Given the description of an element on the screen output the (x, y) to click on. 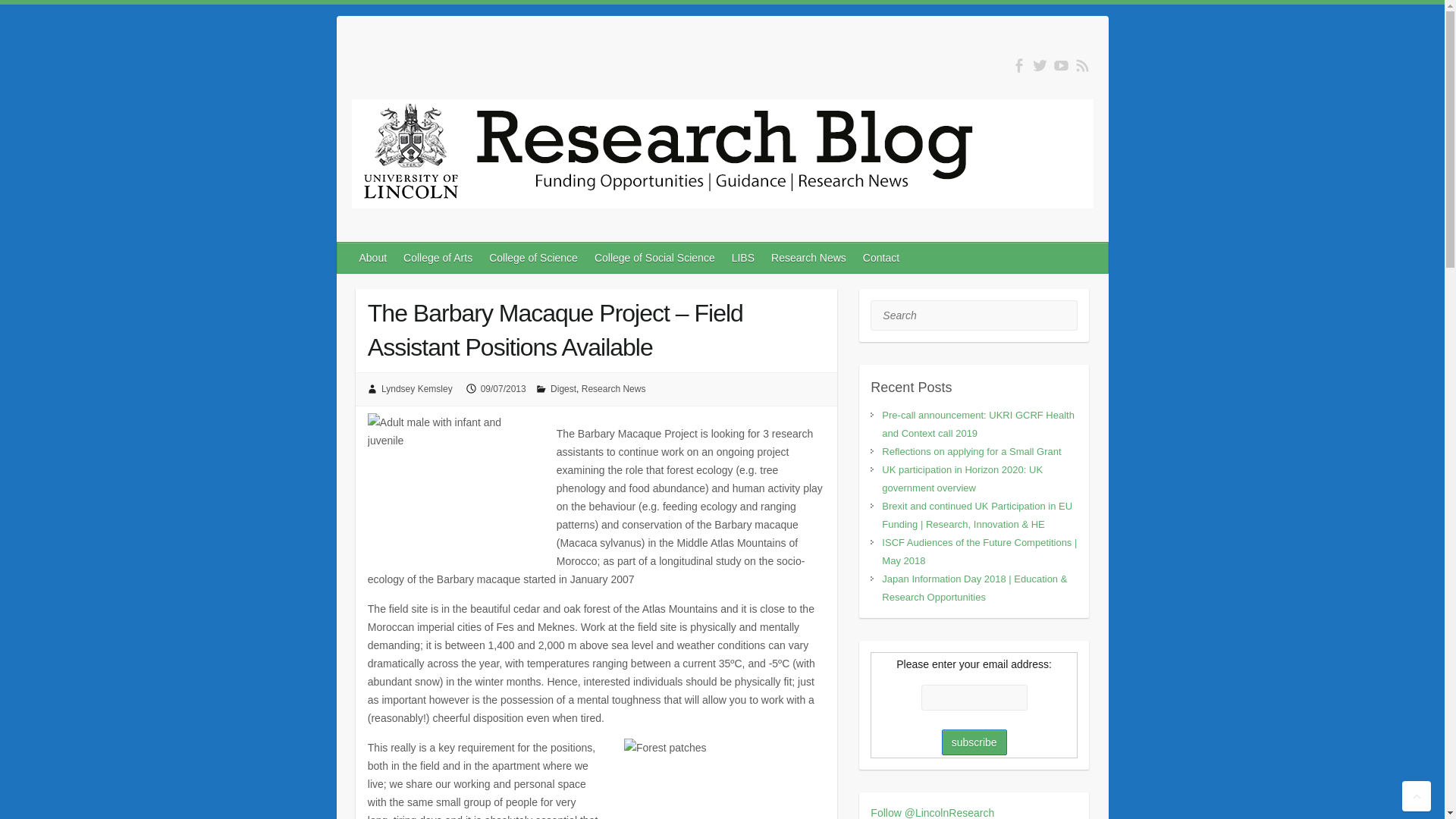
LIBS (742, 257)
University of Lincoln Research Blog on YouTube (1061, 65)
Reflections on applying for a Small Grant (971, 451)
Contact (882, 257)
About (374, 257)
University of Lincoln Research Blog (722, 157)
University of Lincoln Research Blog on Twitter (1039, 65)
University of Lincoln Research Blog on RSS (1082, 65)
Research News (613, 388)
Subscribe (974, 742)
College of Science (533, 257)
Subscribe (974, 742)
Digest (563, 388)
College of Social Science (654, 257)
